Given the description of an element on the screen output the (x, y) to click on. 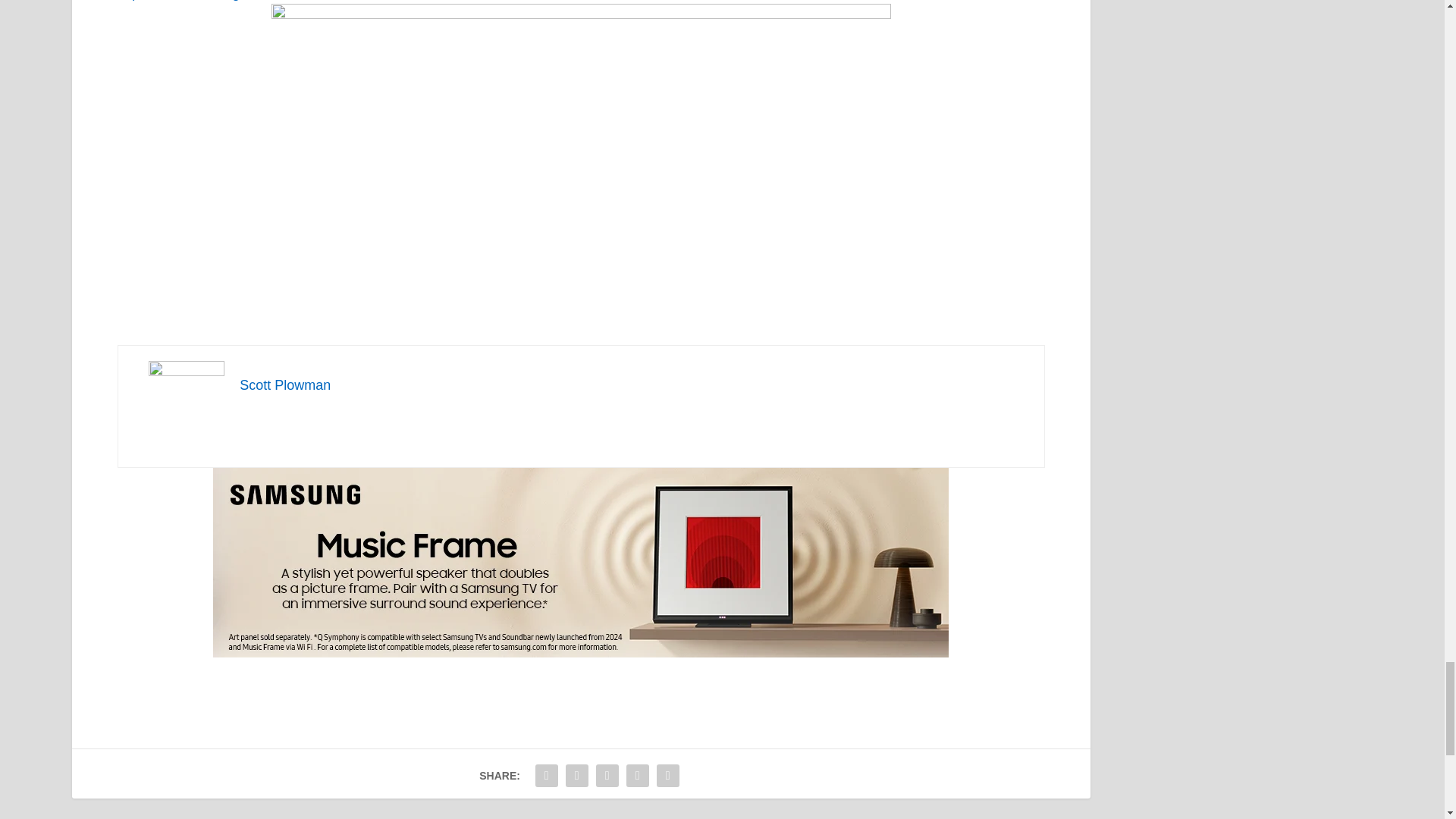
Scott Plowman (285, 385)
